Given the description of an element on the screen output the (x, y) to click on. 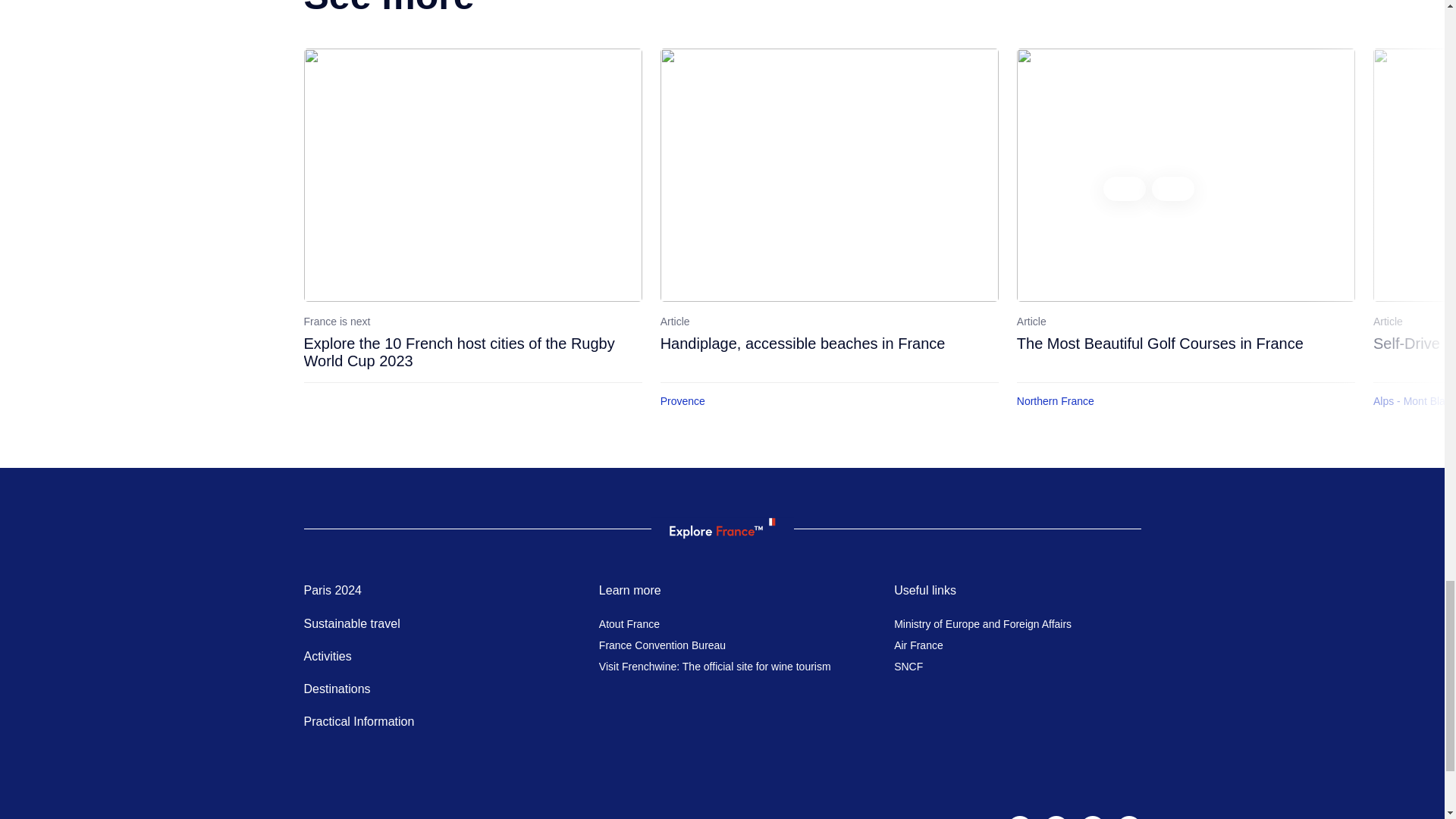
Follow us follow on Instagram (1018, 817)
Explore France (721, 527)
Follow us follow on X (1128, 817)
Follow us follow on TikTok (1091, 817)
Follow us follow on Facebook (1055, 817)
